Given the description of an element on the screen output the (x, y) to click on. 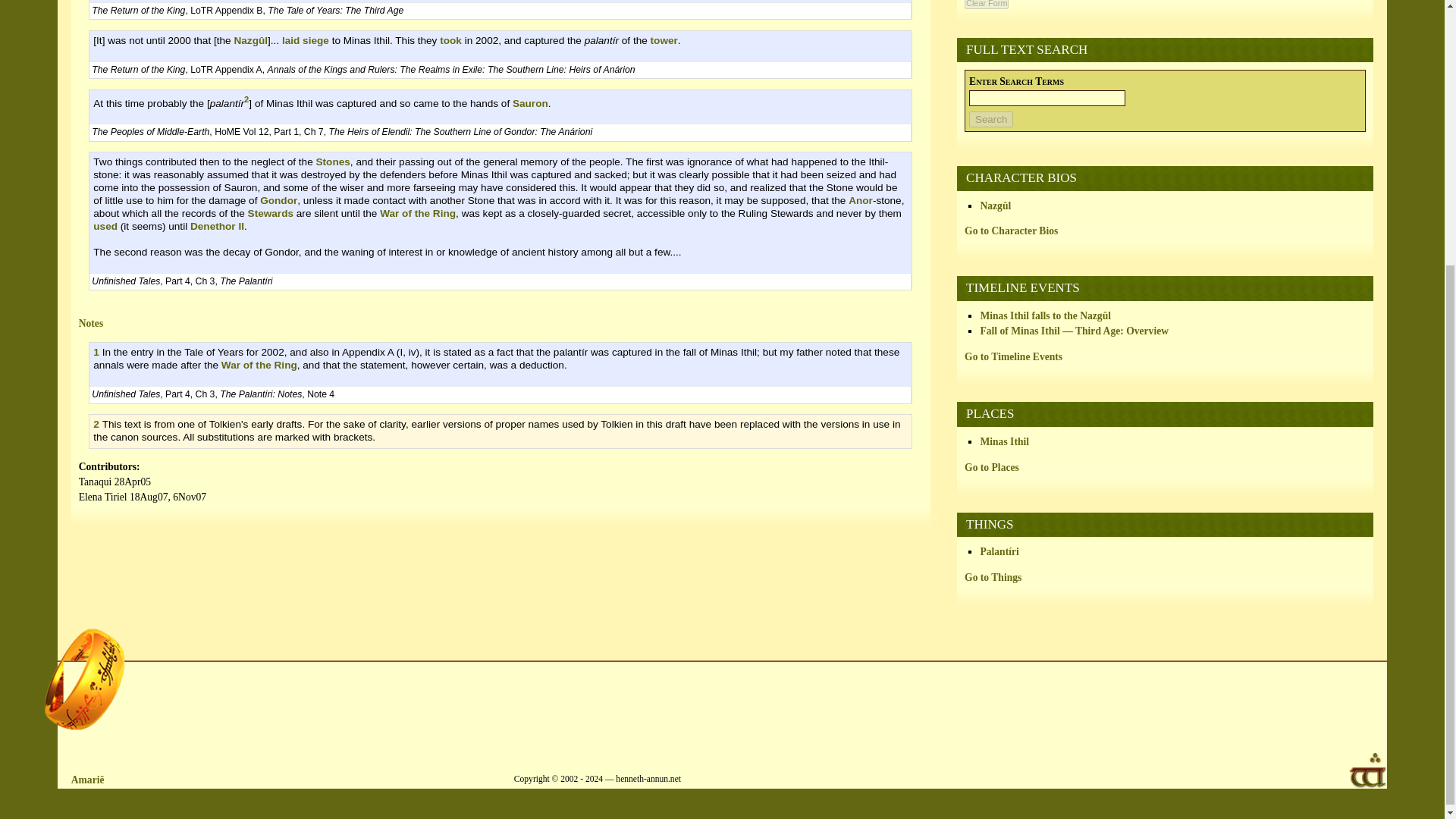
Required (1016, 81)
Click to view Minas Ithil (1004, 441)
War of the Ring (417, 213)
Stewards (270, 213)
took (450, 40)
Stones (332, 161)
Search (991, 119)
Anor (860, 200)
Sauron (530, 102)
used (105, 225)
